Given the description of an element on the screen output the (x, y) to click on. 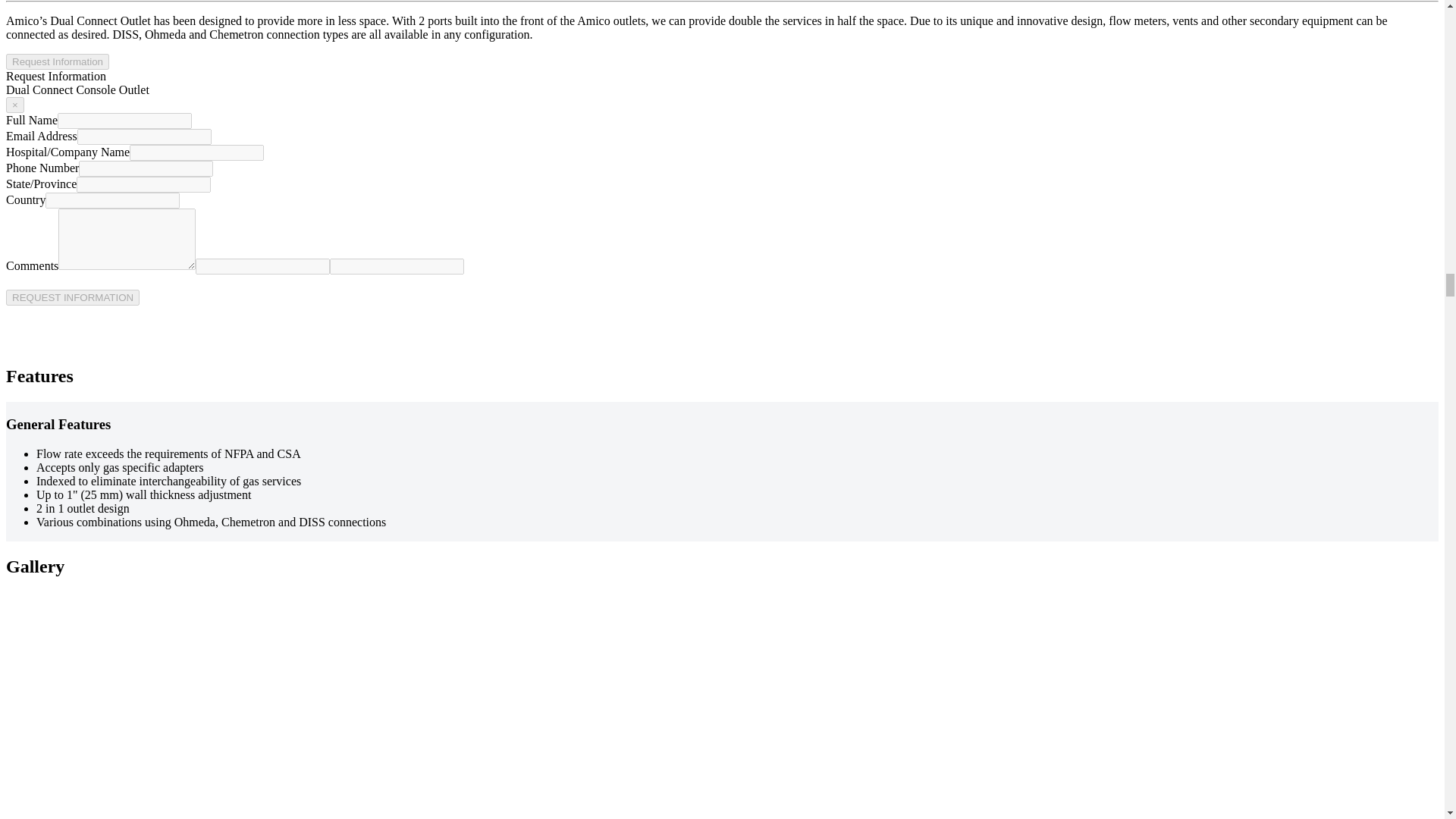
NFPA Color Codes (148, 666)
Request Information (57, 61)
REQUEST INFORMATION (72, 297)
